Given the description of an element on the screen output the (x, y) to click on. 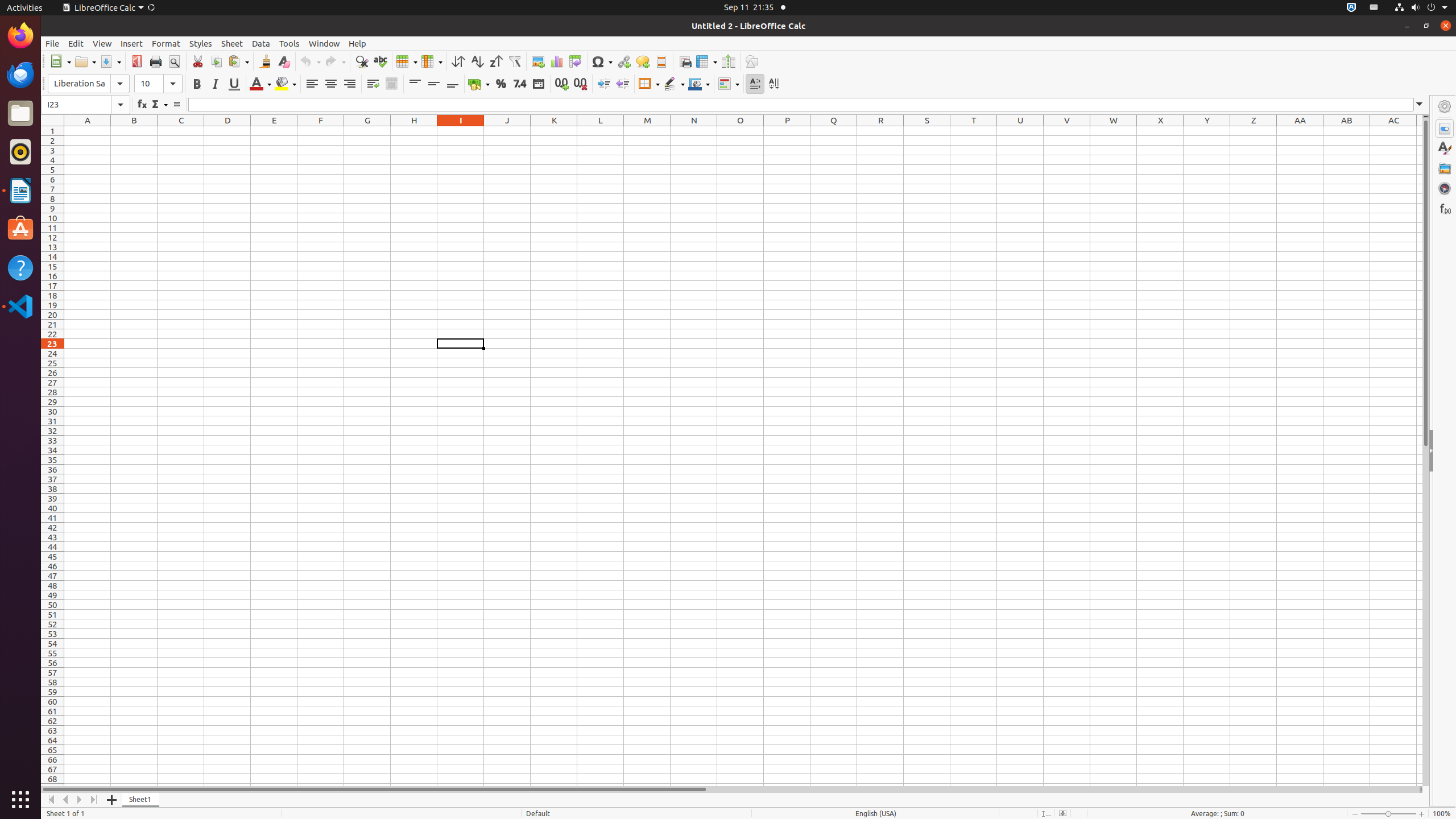
IsaHelpMain.desktop Element type: label (75, 170)
Name Box Element type: text (75, 104)
Italic Element type: toggle-button (214, 83)
Split Window Element type: push-button (727, 61)
